Given the description of an element on the screen output the (x, y) to click on. 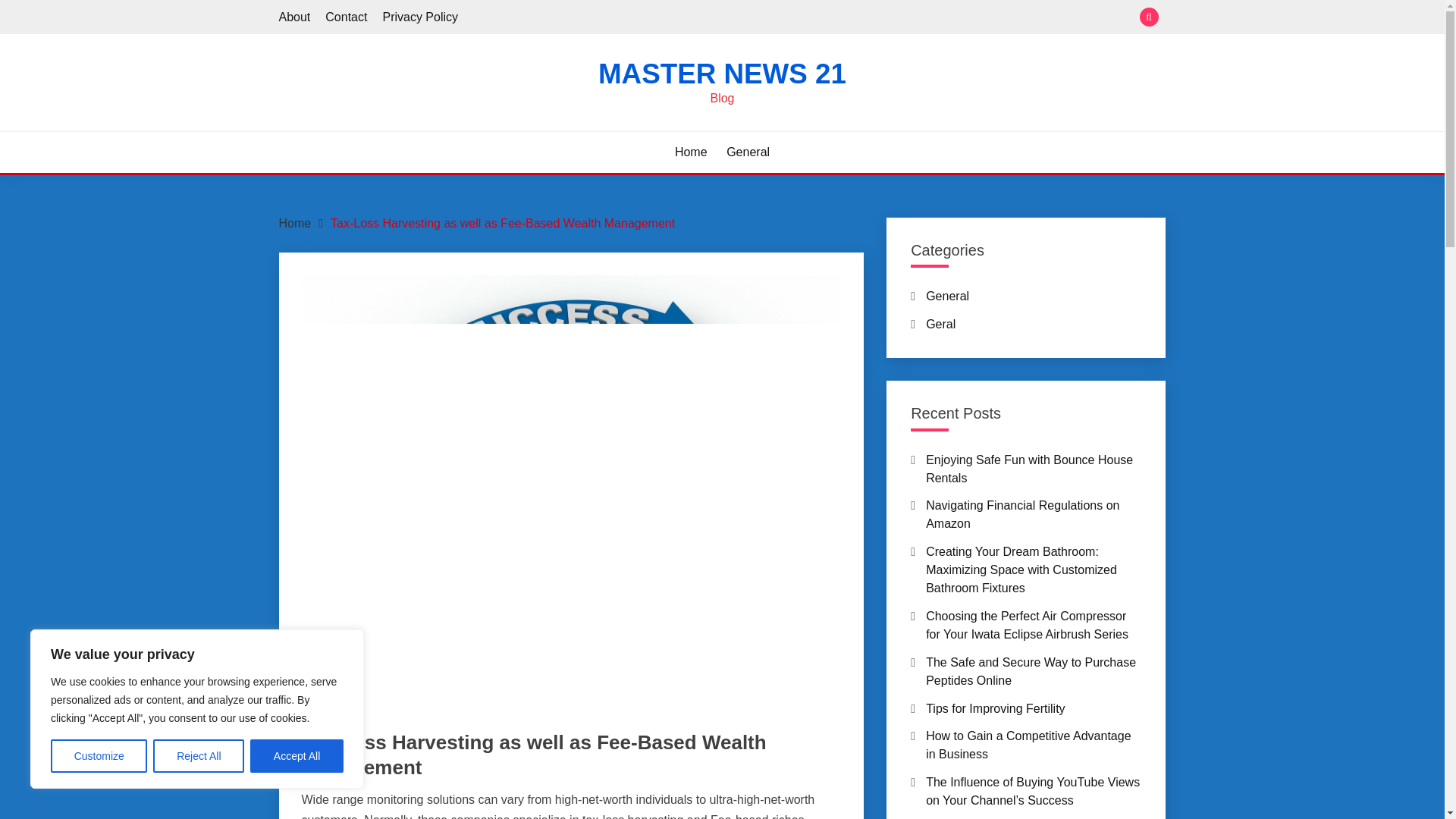
Privacy Policy (419, 16)
Tax-Loss Harvesting as well as Fee-Based Wealth Management (502, 223)
About (295, 16)
Accept All (296, 756)
Reject All (198, 756)
General (748, 152)
Home (691, 152)
Home (295, 223)
Contact (345, 16)
MASTER NEWS 21 (721, 73)
